Given the description of an element on the screen output the (x, y) to click on. 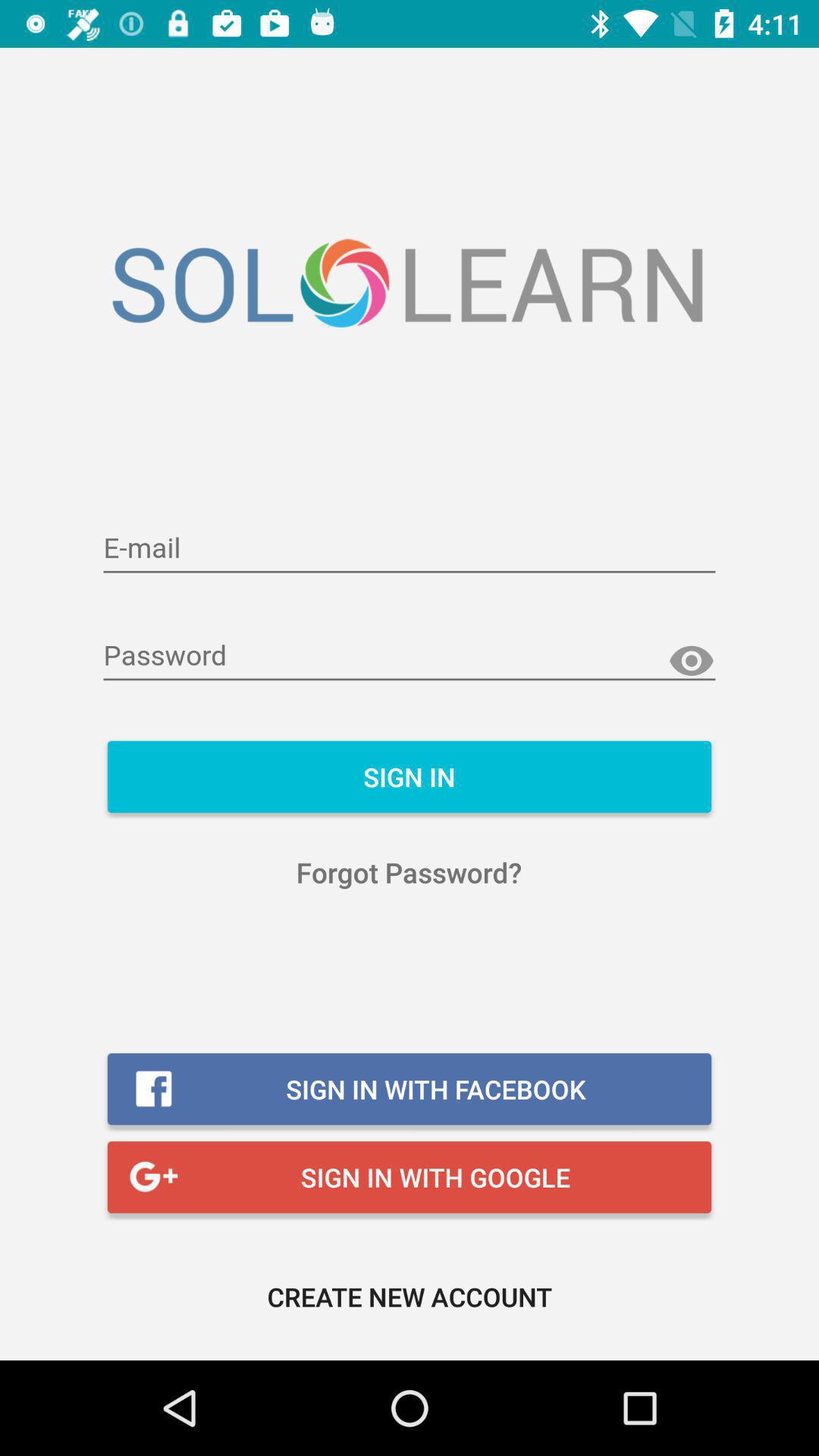
show password (691, 661)
